Given the description of an element on the screen output the (x, y) to click on. 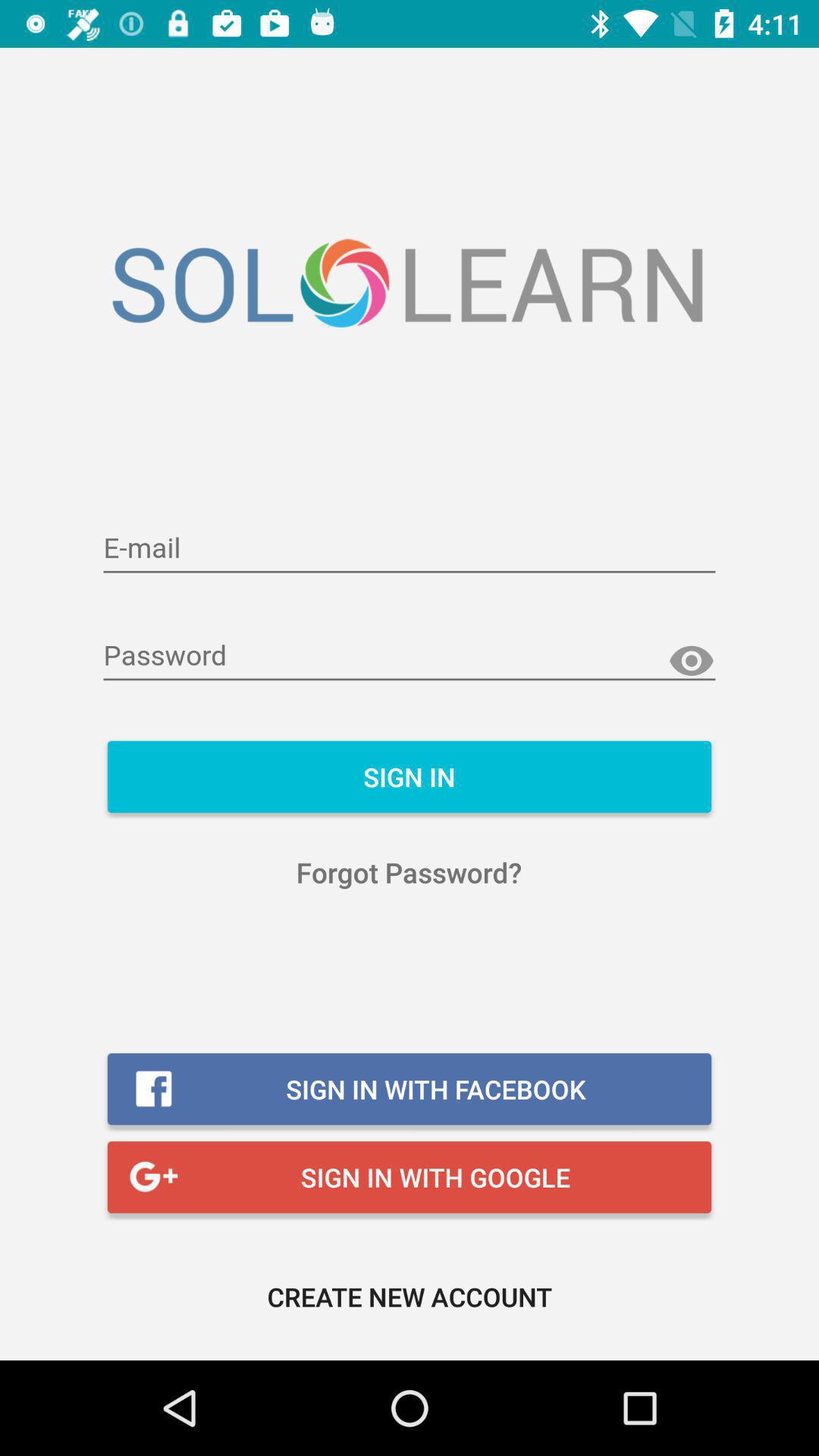
show password (691, 661)
